Given the description of an element on the screen output the (x, y) to click on. 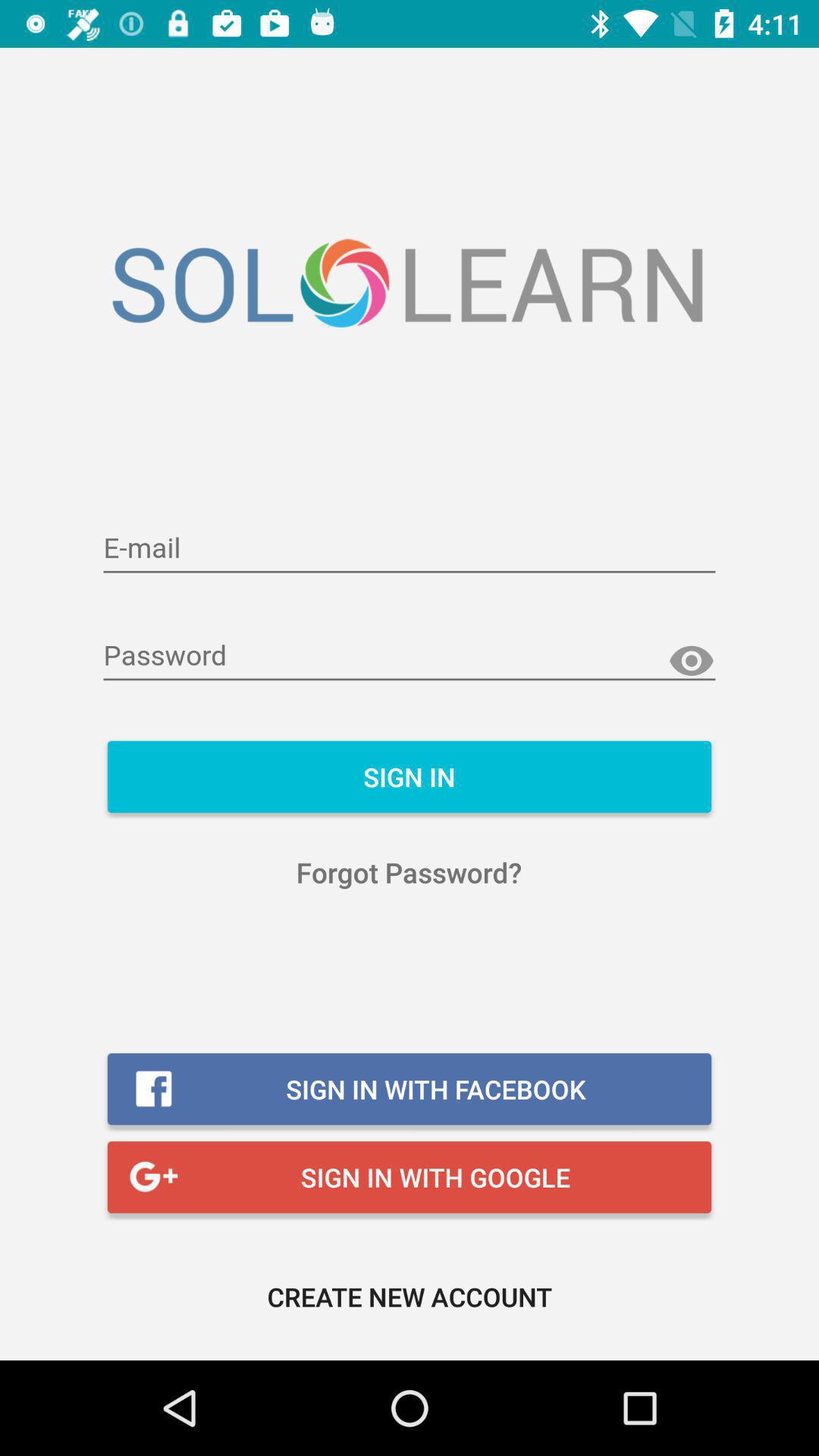
show password (691, 661)
